Given the description of an element on the screen output the (x, y) to click on. 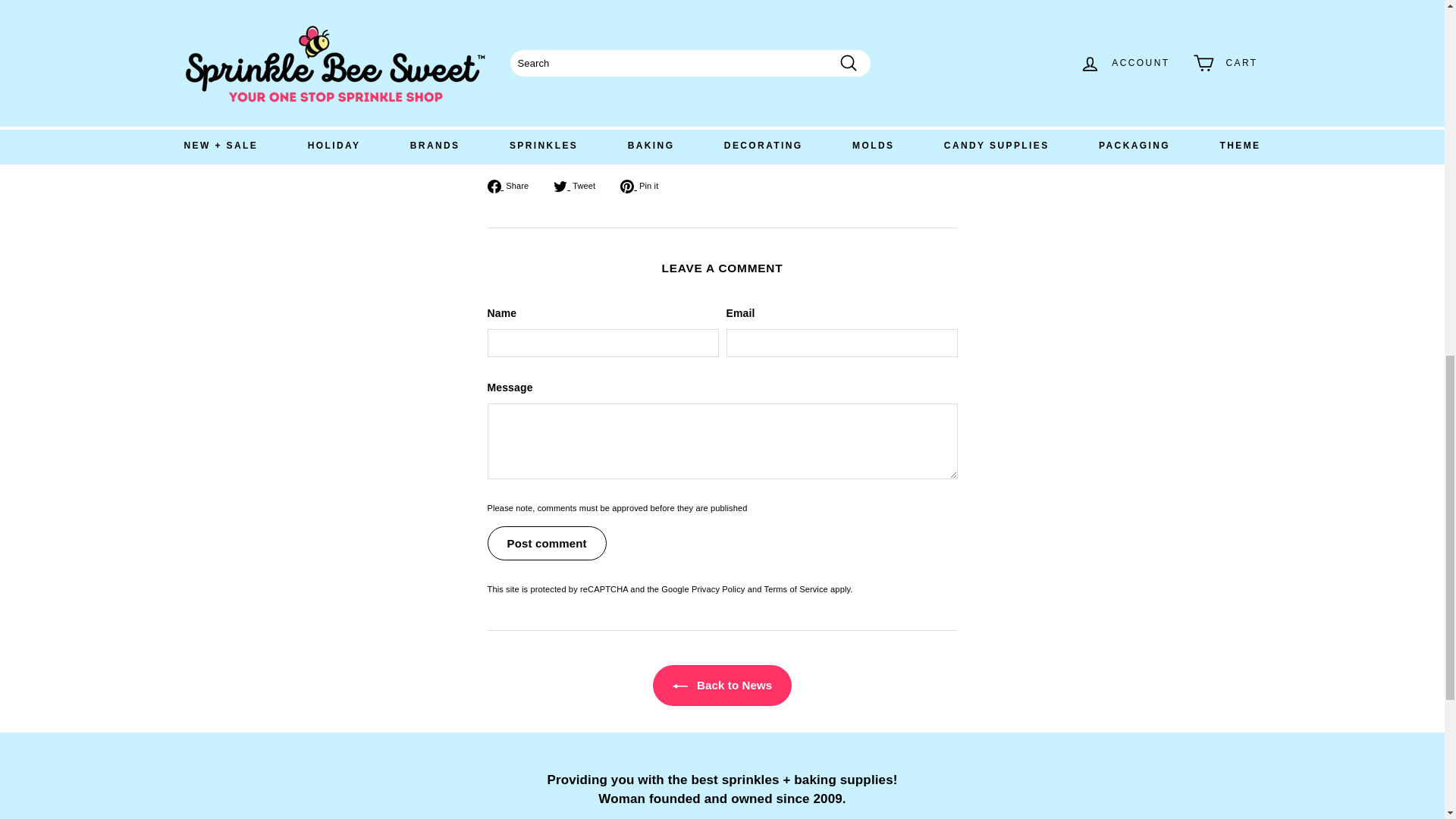
Tweet on Twitter (580, 185)
Pin on Pinterest (644, 185)
Share on Facebook (513, 185)
